Given the description of an element on the screen output the (x, y) to click on. 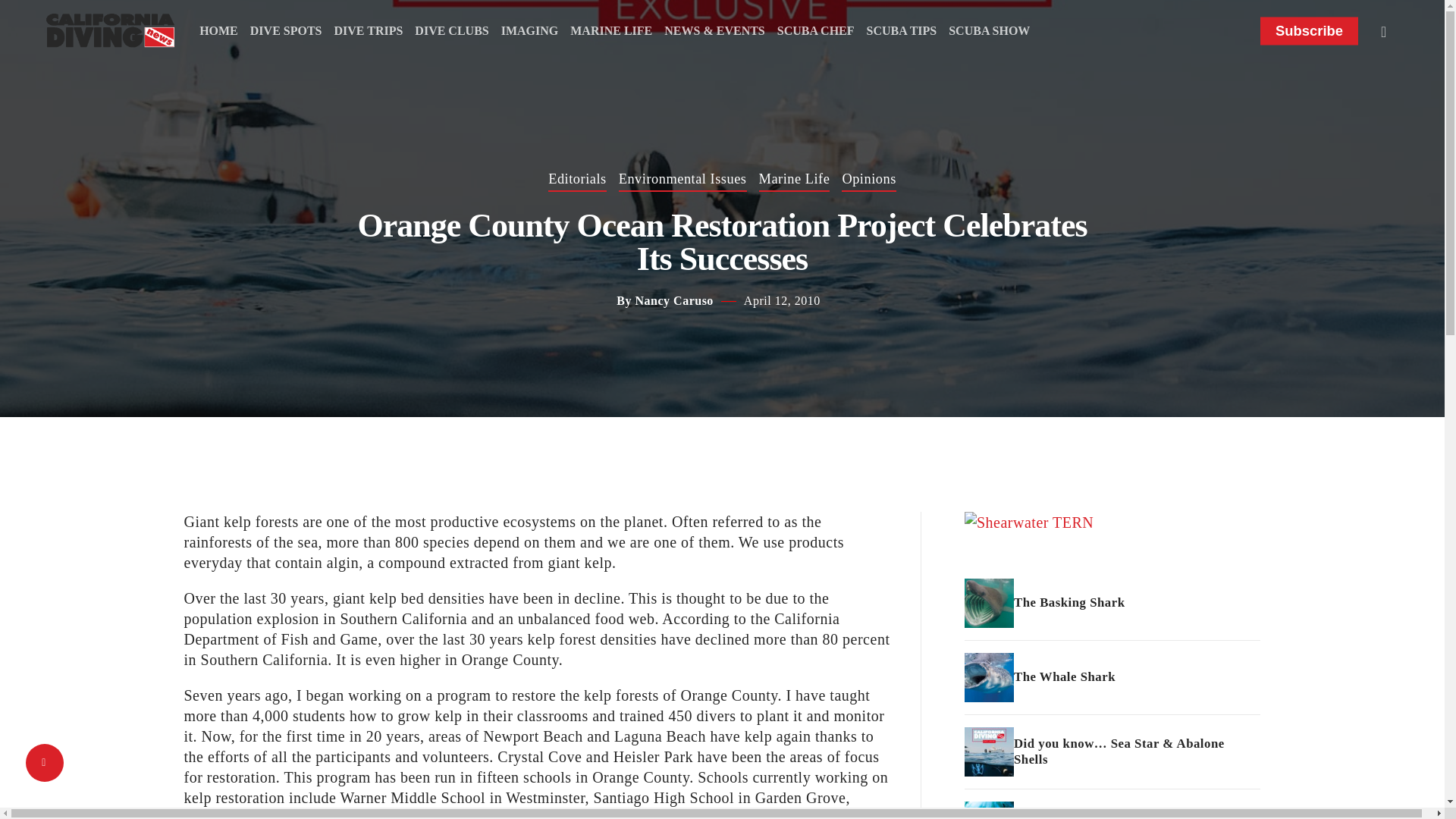
The Basking Shark (1111, 603)
MARINE LIFE (611, 30)
Opinions (868, 179)
IMAGING (529, 30)
Editorials (577, 179)
Environmental Issues (682, 179)
Marine Life (793, 179)
SCUBA SHOW (989, 30)
SCUBA TIPS (901, 30)
Posts by Nancy Caruso (673, 300)
SCUBA CHEF (815, 30)
Subscribe (1309, 30)
Nancy Caruso (673, 300)
DIVE CLUBS (450, 30)
DIVE SPOTS (285, 30)
